Given the description of an element on the screen output the (x, y) to click on. 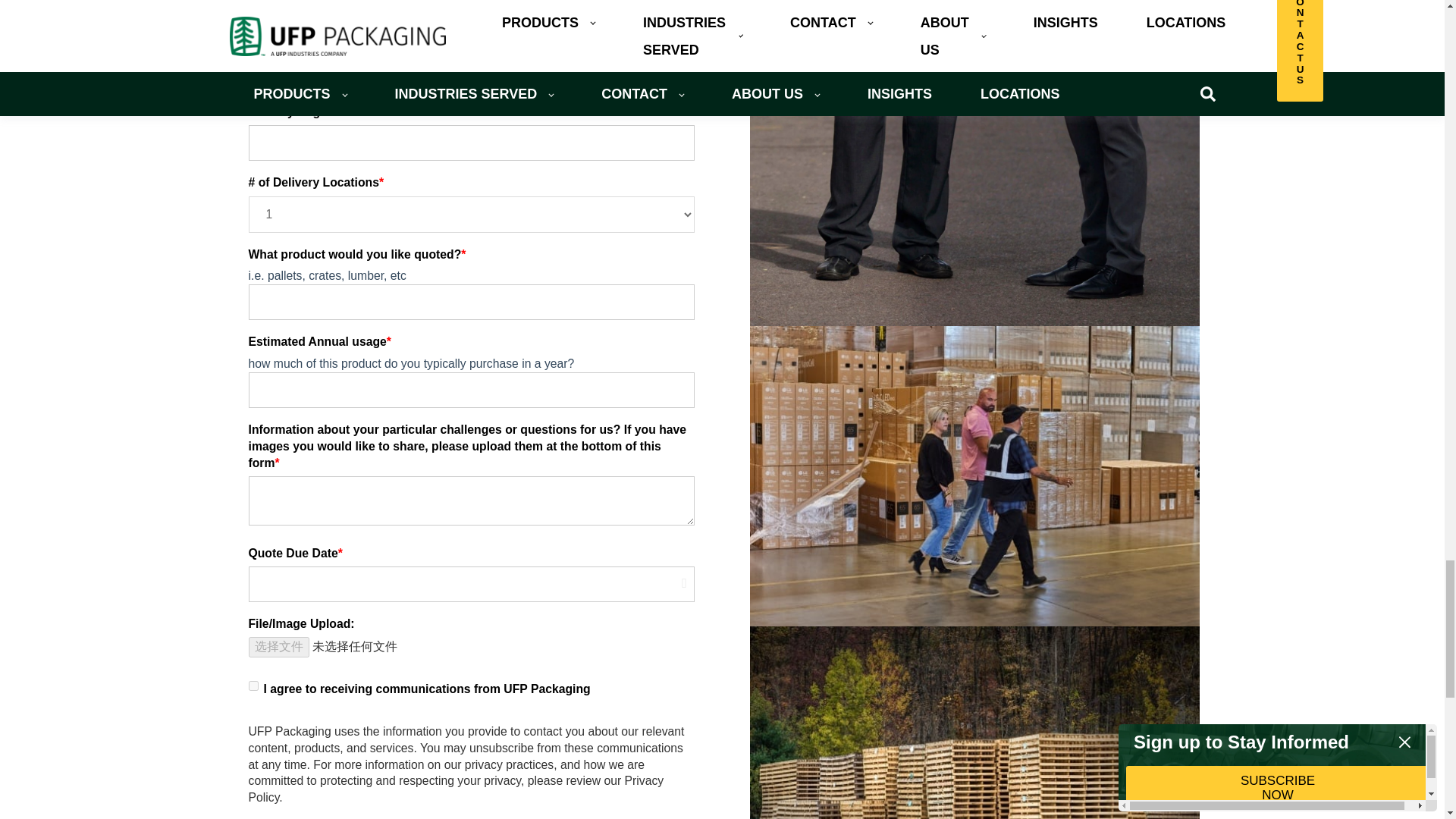
true (253, 685)
